Given the description of an element on the screen output the (x, y) to click on. 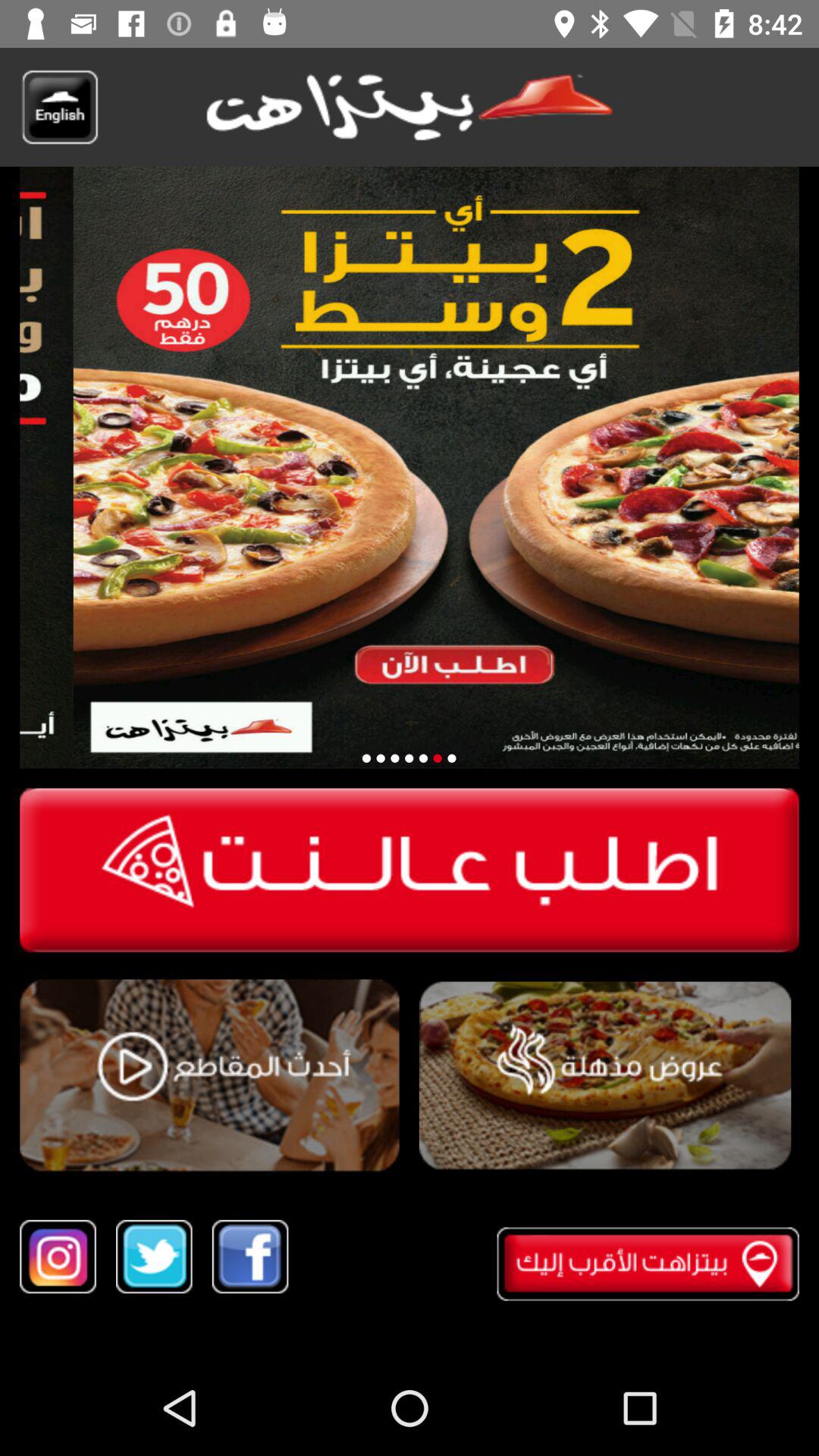
click to loading (423, 758)
